Given the description of an element on the screen output the (x, y) to click on. 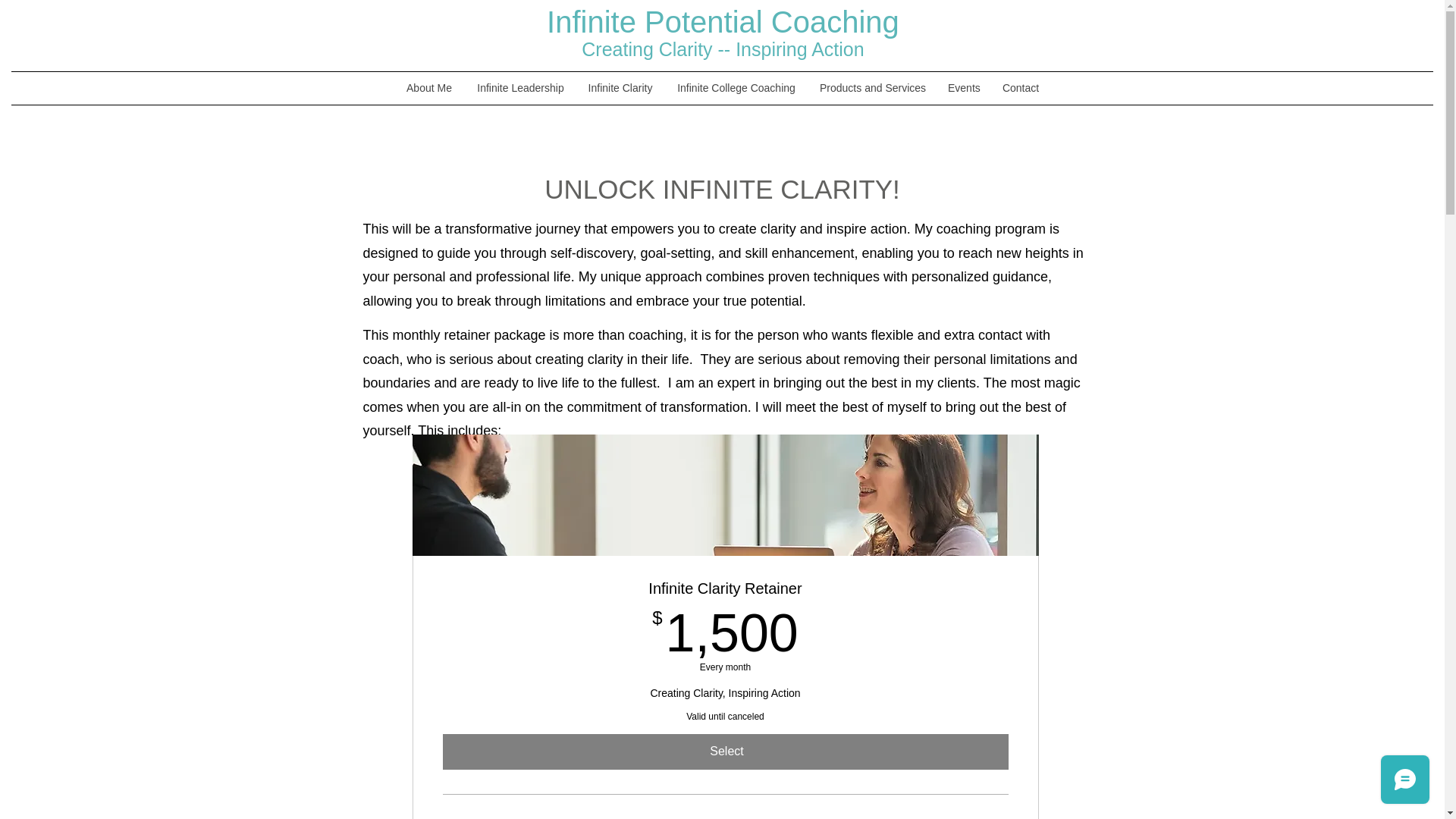
Events (963, 88)
About Me (428, 88)
Infinite Leadership (520, 88)
Infinite College Coaching (735, 88)
Select (725, 751)
Infinite Potential  (659, 21)
Infinite Clarity (619, 88)
Products and Services (872, 88)
Contact (1020, 88)
